Given the description of an element on the screen output the (x, y) to click on. 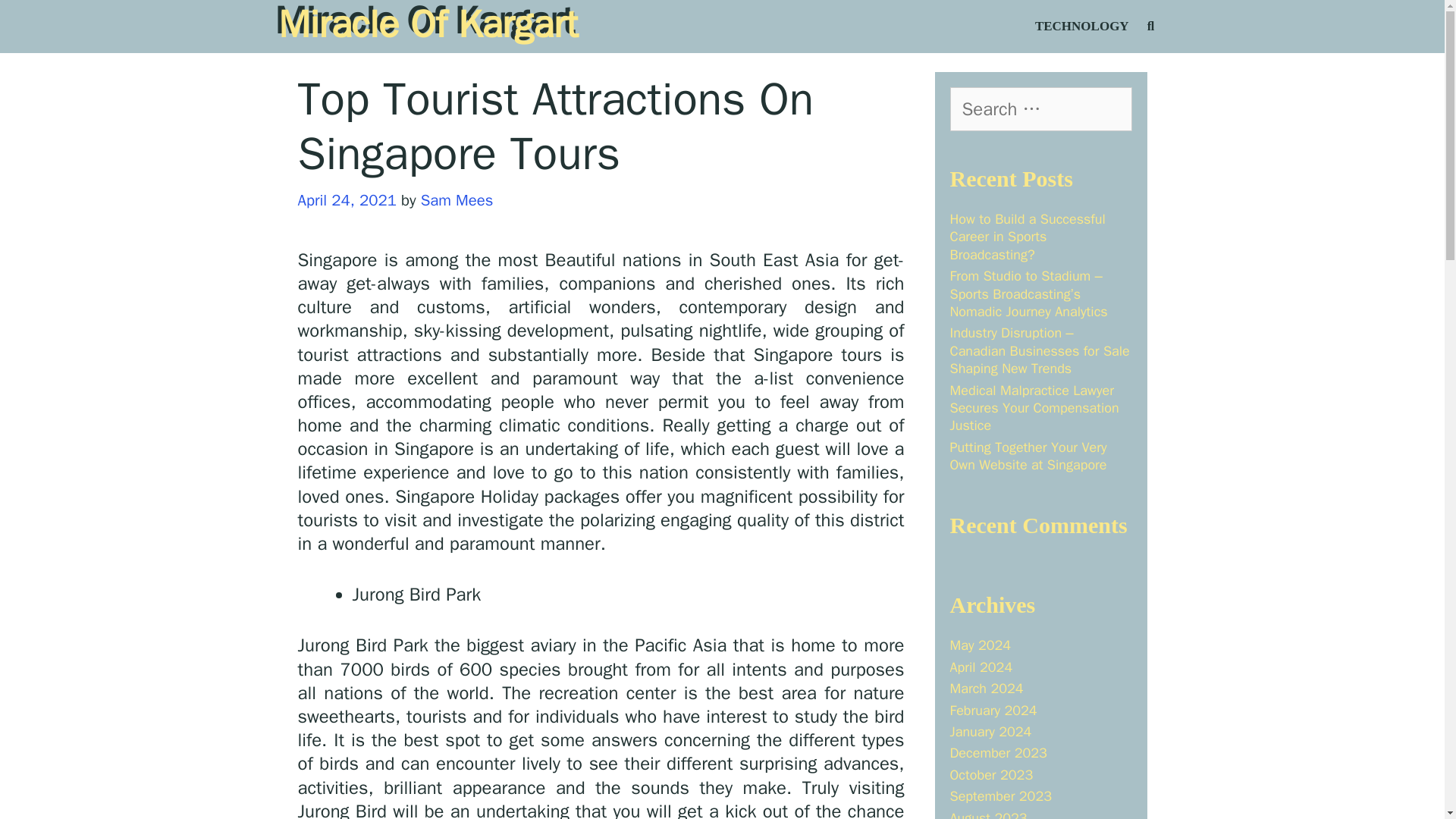
Search for: (1040, 108)
January 2024 (989, 731)
View all posts by Sam Mees (456, 199)
Search (40, 20)
2:35 pm (346, 199)
December 2023 (997, 752)
February 2024 (992, 710)
Miracle Of Kargart (428, 24)
Sam Mees (456, 199)
April 2024 (980, 667)
How to Build a Successful Career in Sports Broadcasting? (1027, 236)
August 2023 (987, 814)
April 24, 2021 (346, 199)
September 2023 (1000, 795)
May 2024 (979, 645)
